Given the description of an element on the screen output the (x, y) to click on. 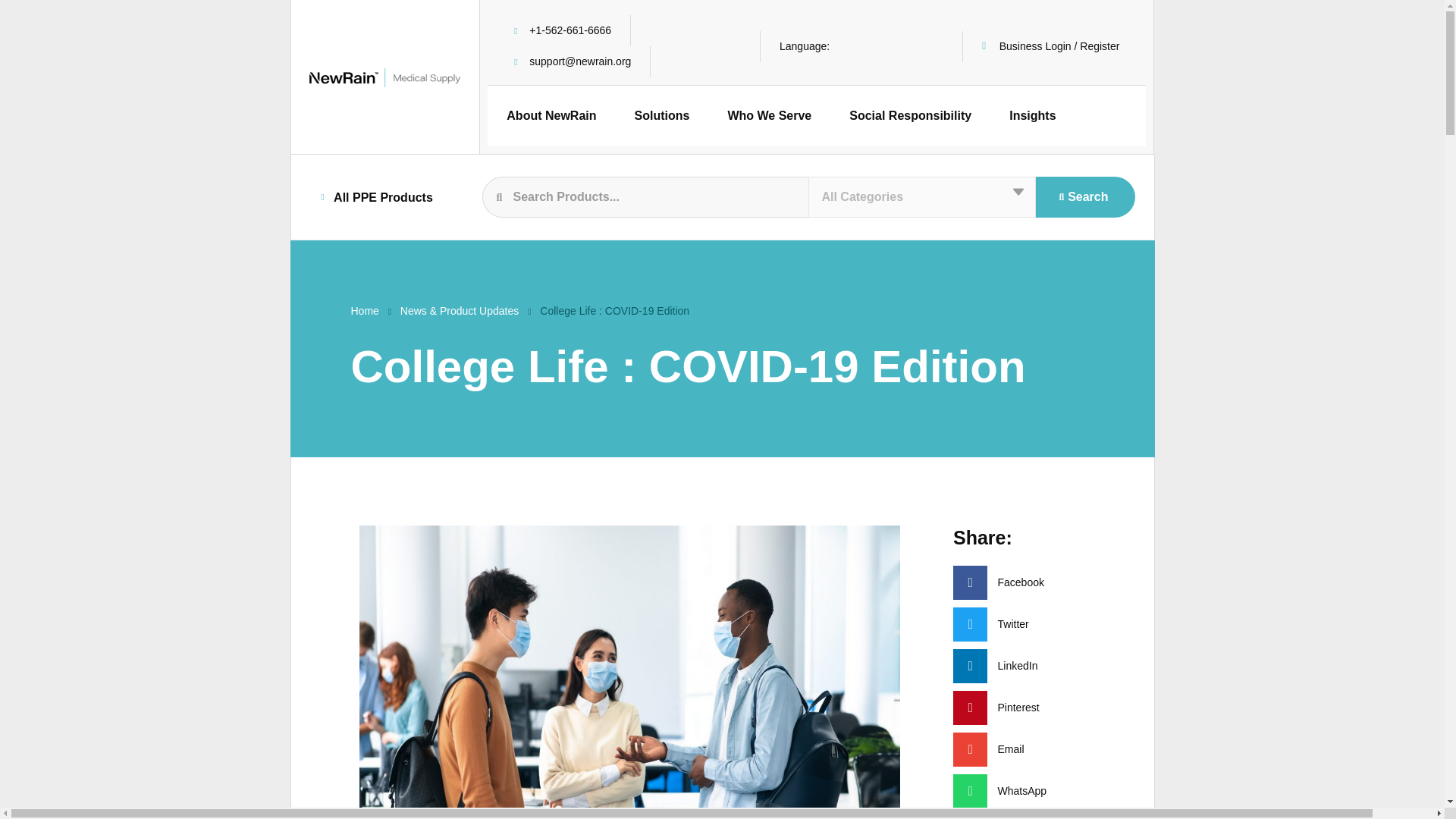
Search (1084, 197)
Insights (1032, 115)
Korean (905, 46)
Spanish (924, 46)
Social Responsibility (909, 115)
Solutions (662, 115)
Home (364, 311)
English (866, 46)
All PPE Products (376, 196)
Who We Serve (768, 115)
